Given the description of an element on the screen output the (x, y) to click on. 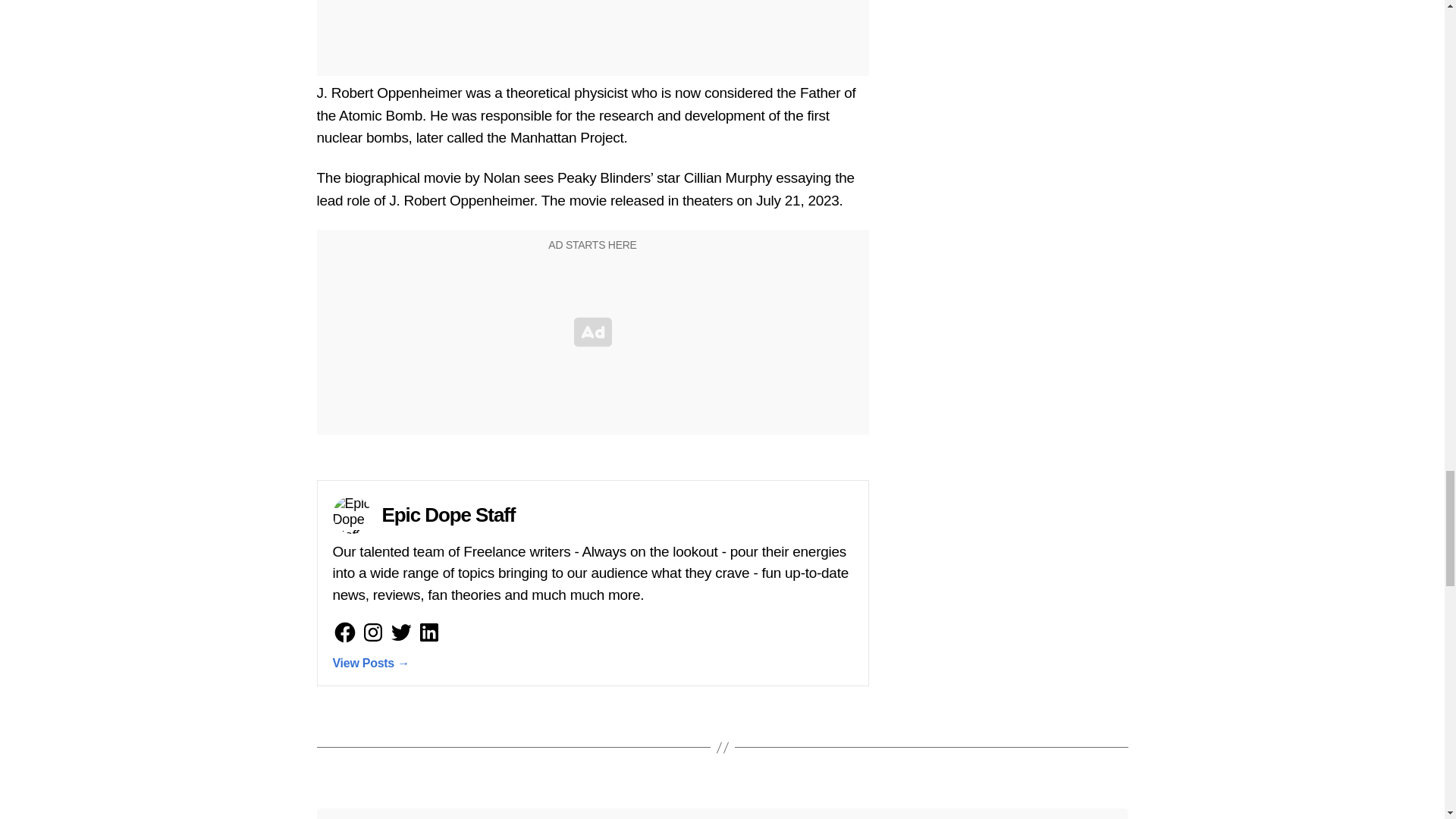
instagram (373, 631)
Facebook (343, 631)
linkedin (428, 631)
Twitter (400, 631)
